Given the description of an element on the screen output the (x, y) to click on. 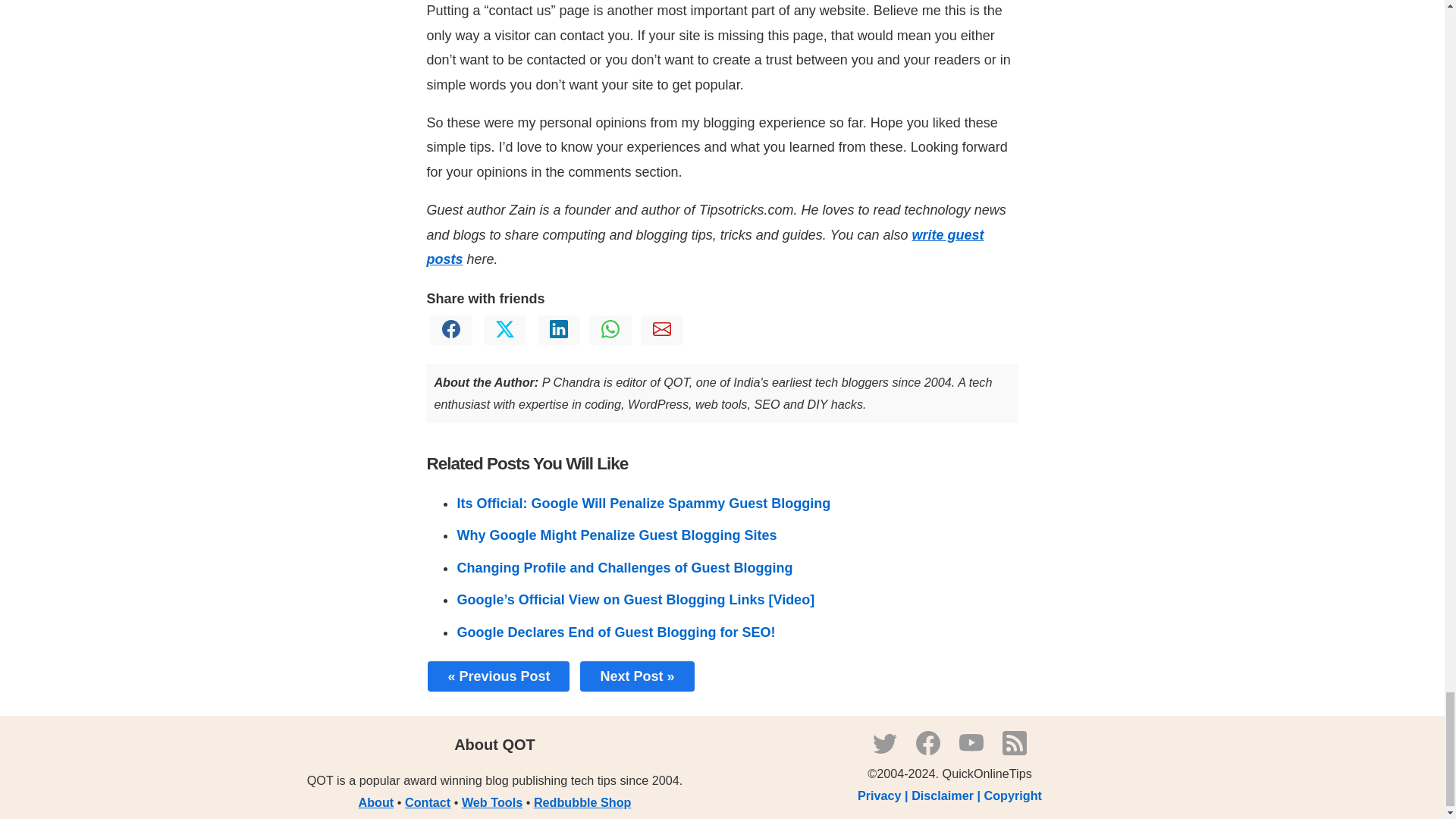
Subscribe RSS Feed (1014, 750)
Changing Profile and Challenges of Guest Blogging (624, 567)
Google Declares End of Guest Blogging for SEO! (615, 631)
write guest posts (705, 246)
Share on Twitter (504, 333)
Why Google Might Penalize Guest Blogging Sites (616, 534)
Follow us on Facebook (927, 750)
Send to Gmail (662, 333)
Redbubble Shop (582, 802)
Its Official: Google Will Penalize Spammy Guest Blogging (643, 503)
